Given the description of an element on the screen output the (x, y) to click on. 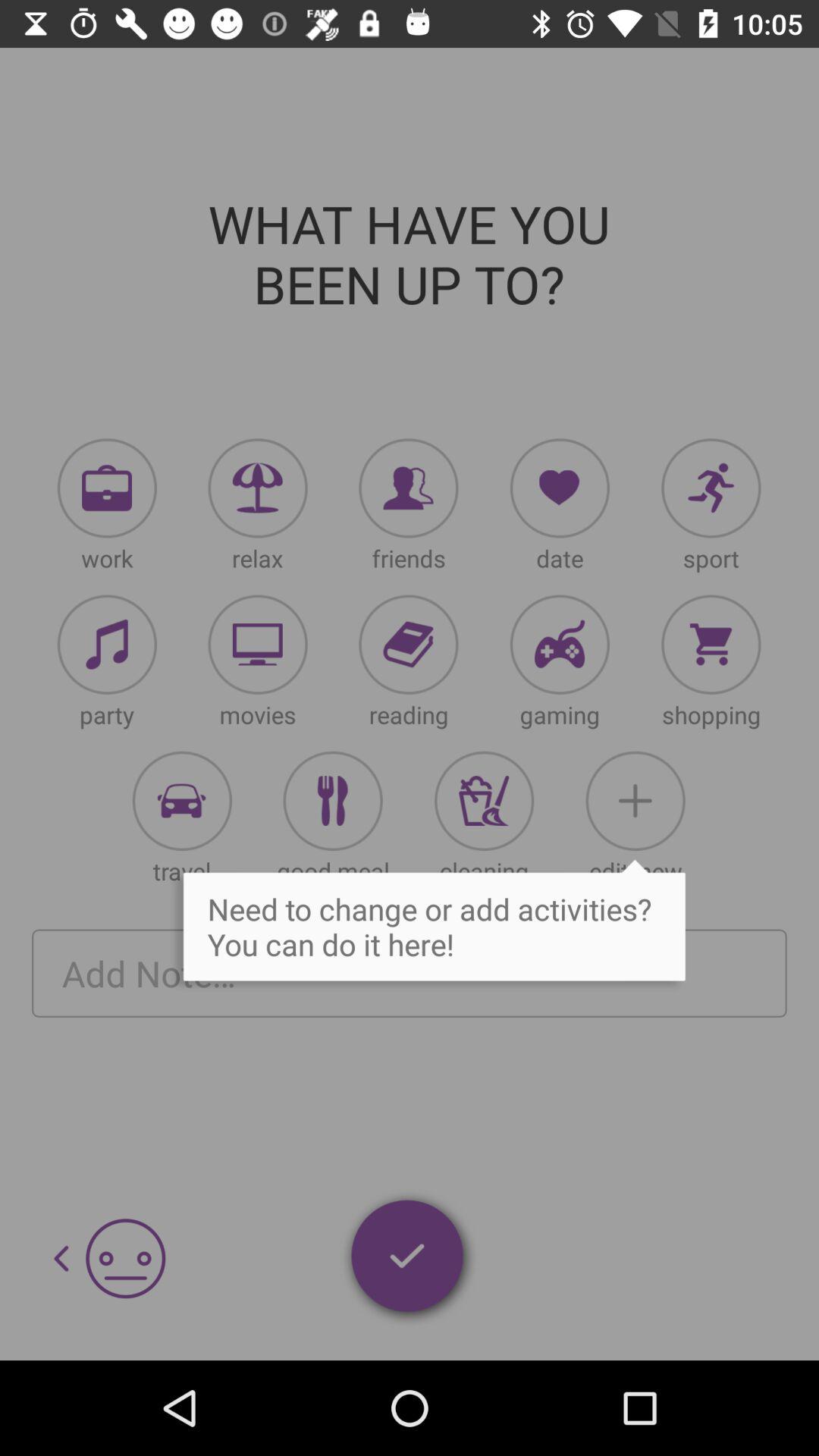
select travel options (182, 800)
